Given the description of an element on the screen output the (x, y) to click on. 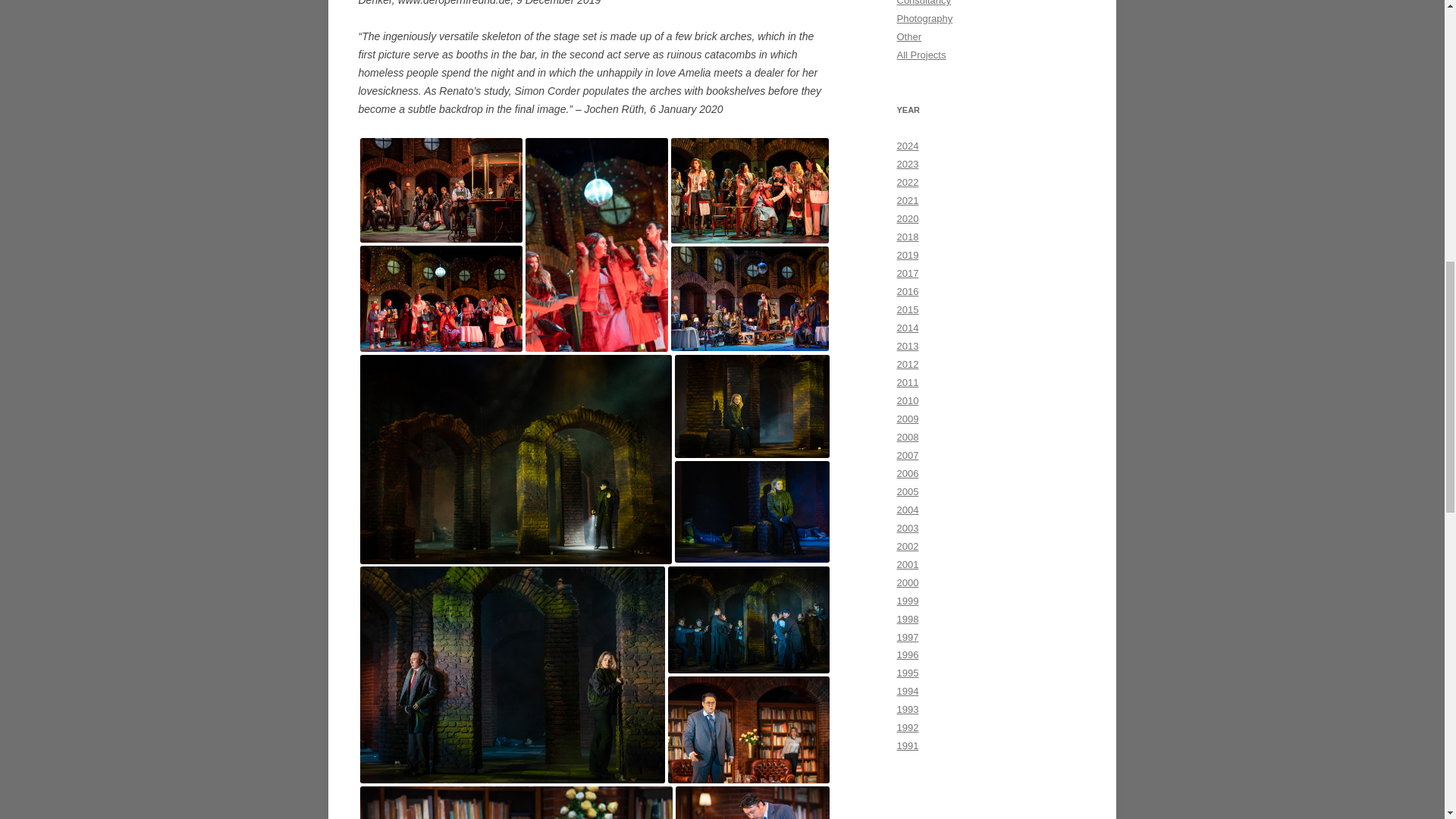
Un ballo in maschera (440, 190)
Un ballo in maschera (748, 619)
Un ballo in maschera (752, 405)
Un ballo in maschera (440, 298)
Un ballo in maschera (748, 729)
Un ballo in maschera (515, 459)
Un ballo in maschera (749, 298)
Un ballo in maschera (752, 512)
Un ballo in maschera (512, 674)
Un ballo in maschera (749, 190)
